Given the description of an element on the screen output the (x, y) to click on. 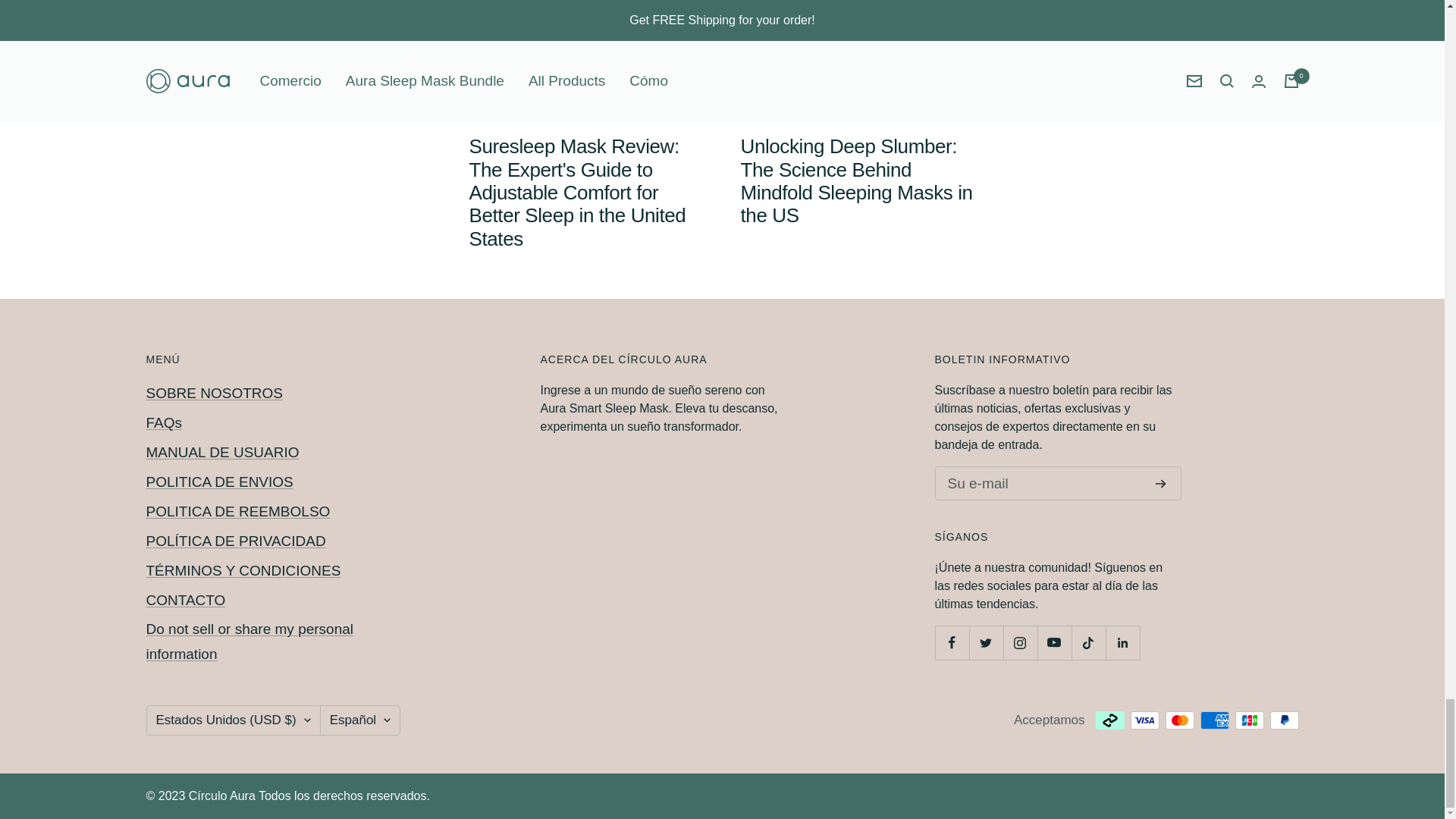
Registrarse (1161, 483)
